Given the description of an element on the screen output the (x, y) to click on. 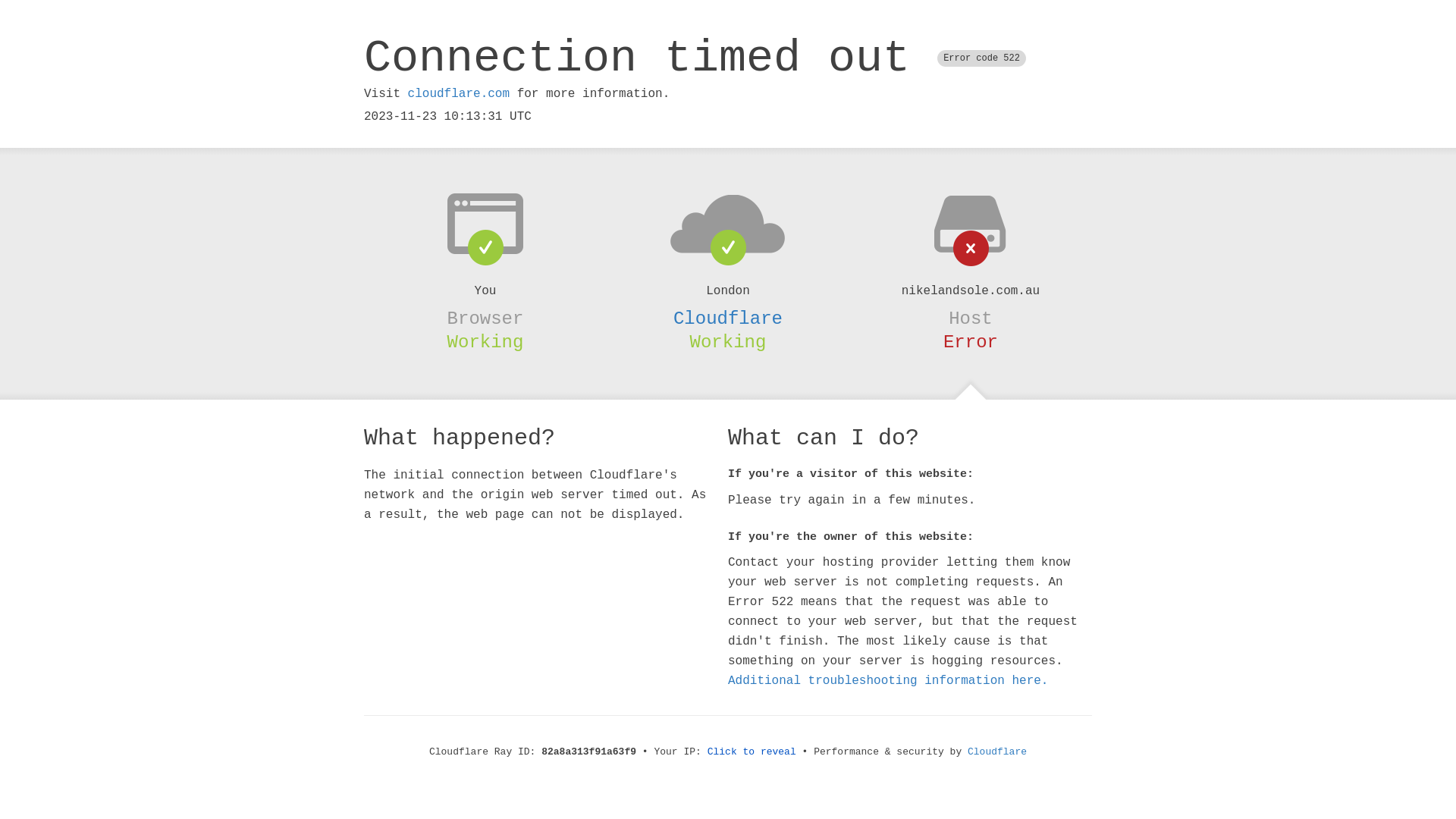
Additional troubleshooting information here. Element type: text (888, 680)
Click to reveal Element type: text (751, 751)
Cloudflare Element type: text (996, 751)
Cloudflare Element type: text (727, 318)
cloudflare.com Element type: text (458, 93)
